Given the description of an element on the screen output the (x, y) to click on. 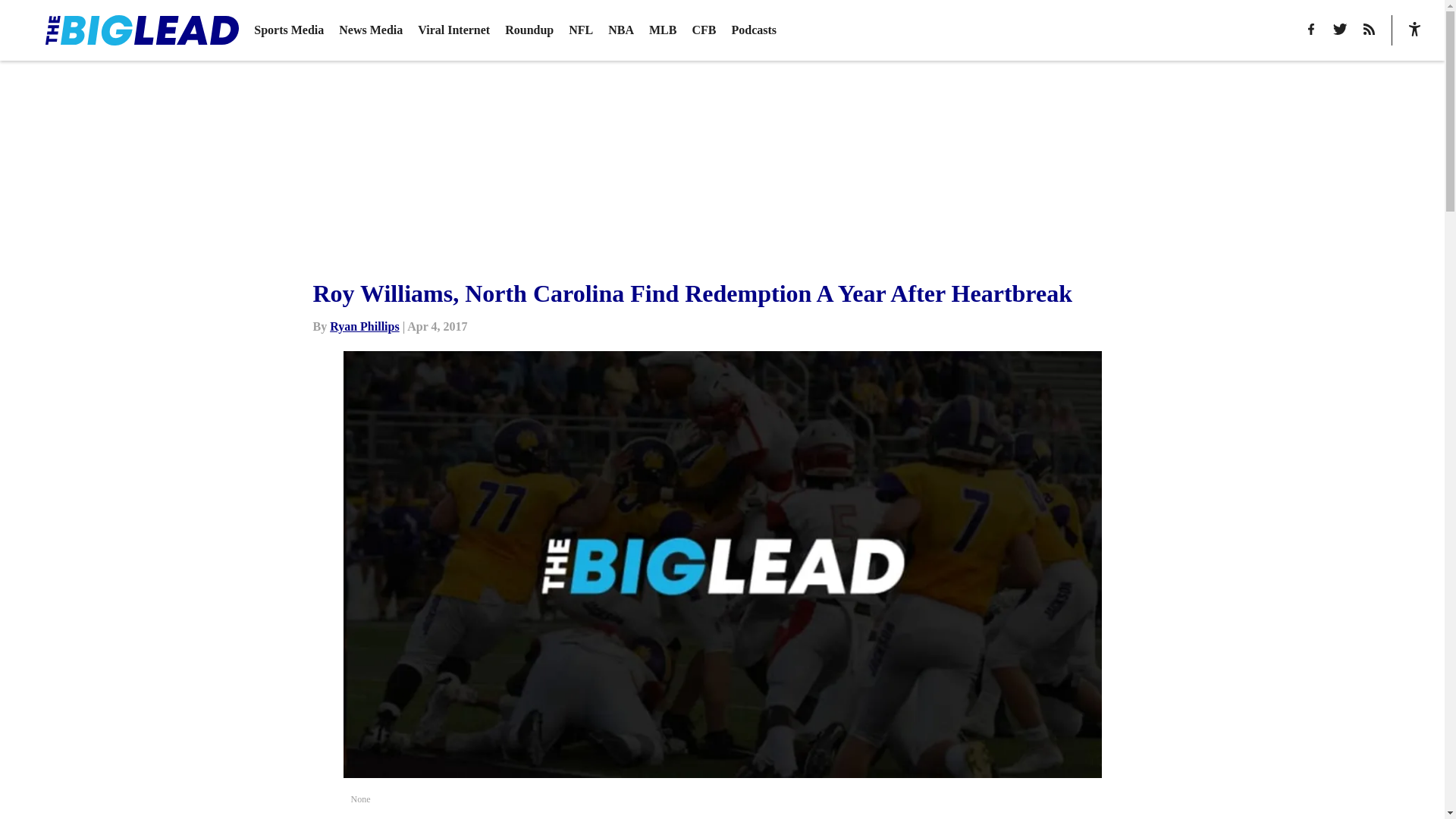
Sports Media (288, 30)
News Media (371, 30)
Ryan Phillips (364, 326)
MLB (663, 30)
NBA (620, 30)
NFL (580, 30)
Podcasts (753, 30)
Roundup (529, 30)
CFB (703, 30)
Viral Internet (453, 30)
